Given the description of an element on the screen output the (x, y) to click on. 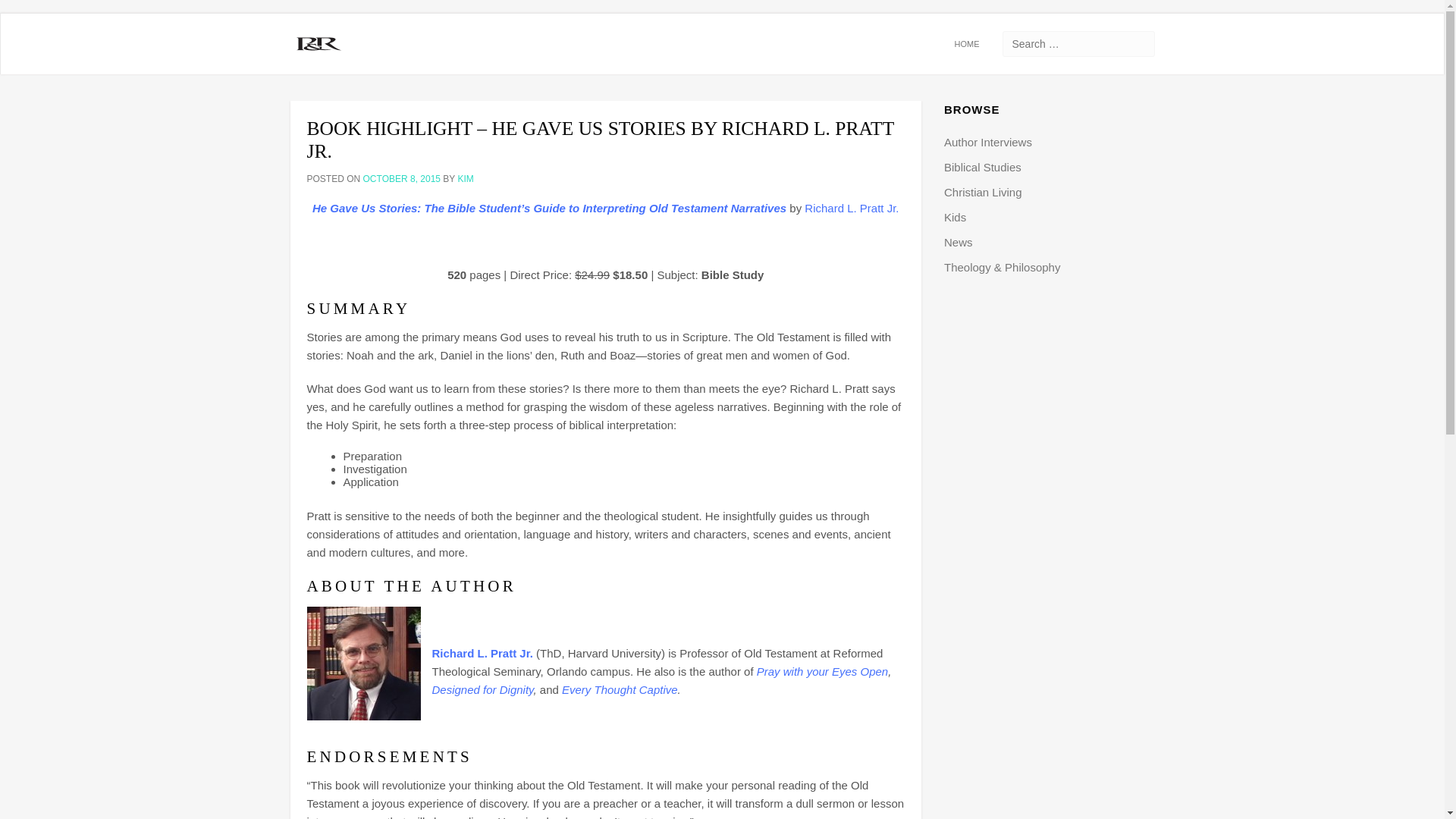
Biblical Studies (982, 166)
Designed for Dignity (483, 689)
Search (19, 7)
Christian Living (982, 192)
Pray with your Eyes Open (822, 671)
Author Interviews (987, 141)
KIM (465, 178)
Every Thought Captive (620, 689)
OCTOBER 8, 2015 (401, 178)
Richard L. Pratt Jr. (482, 653)
Richard L. Pratt Jr. (851, 207)
News (957, 241)
Kids (954, 216)
